Given the description of an element on the screen output the (x, y) to click on. 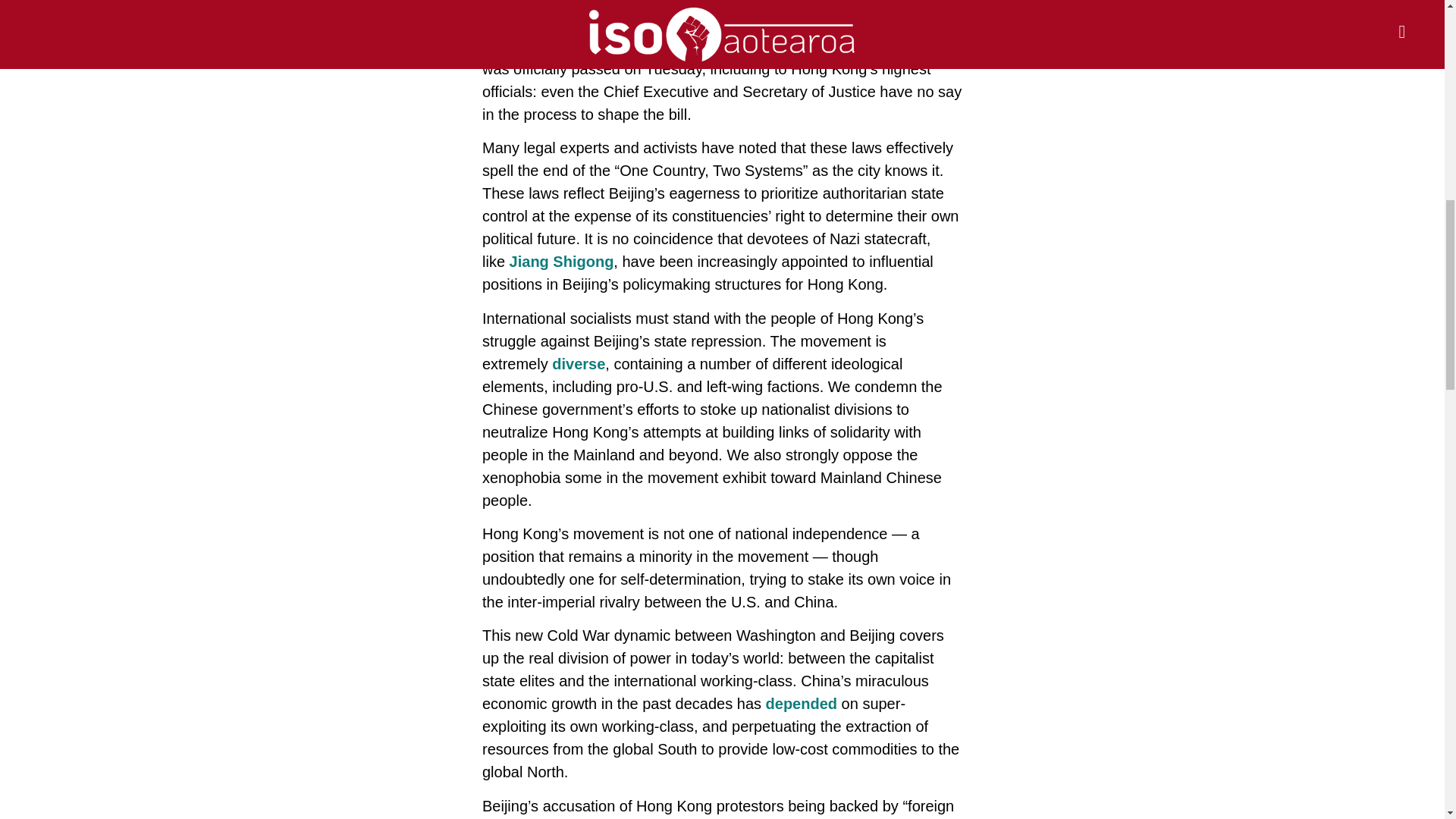
depended (801, 703)
diverse (578, 363)
Jiang Shigong (561, 261)
